Given the description of an element on the screen output the (x, y) to click on. 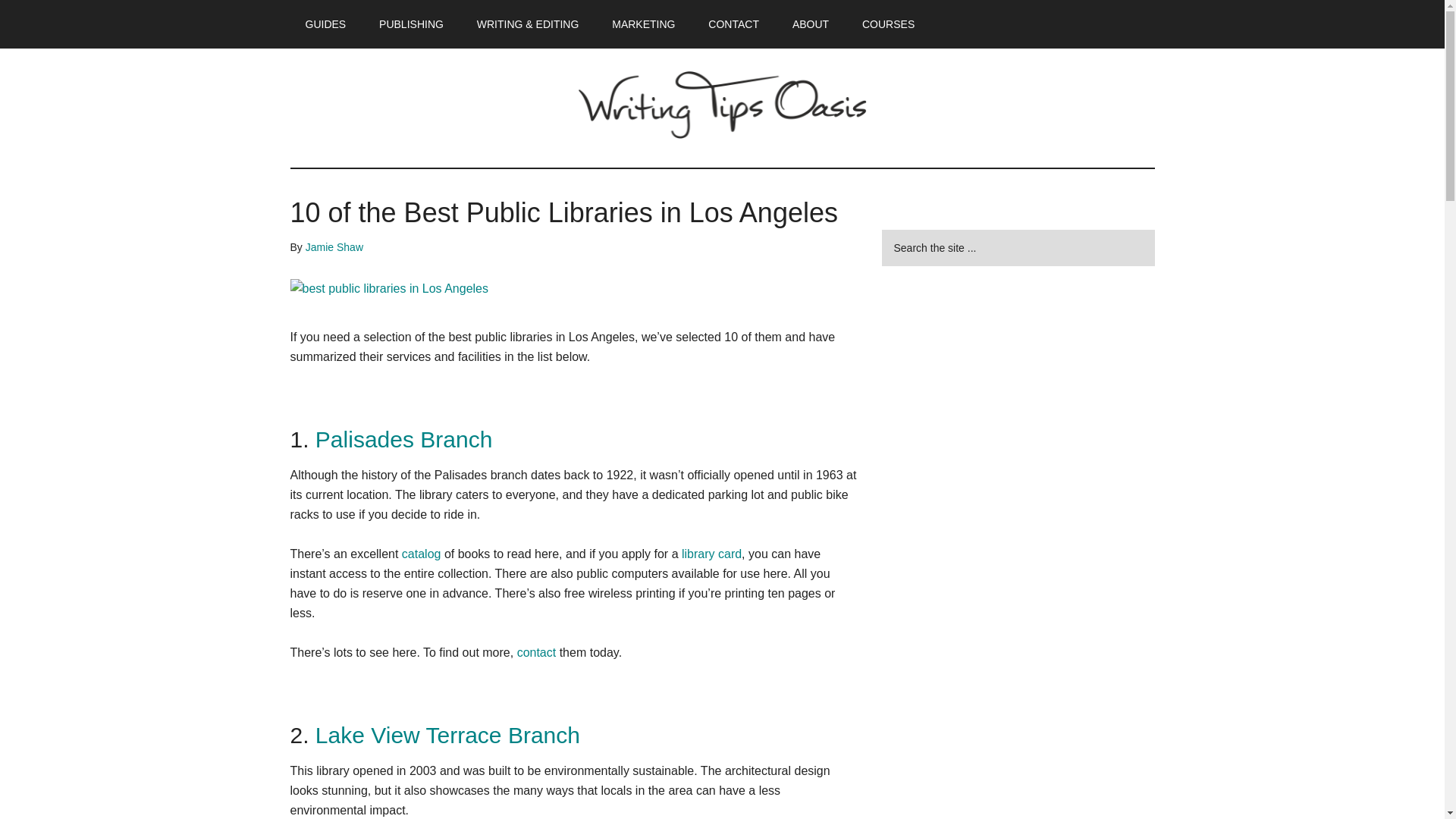
COURSES (888, 24)
Palisades Branch (403, 439)
Jamie Shaw (333, 246)
Lake View Terrace Branch (447, 734)
GUIDES (325, 24)
CONTACT (733, 24)
catalog (421, 553)
contact (536, 652)
ABOUT (810, 24)
PUBLISHING (411, 24)
library card (711, 553)
MARKETING (643, 24)
